Given the description of an element on the screen output the (x, y) to click on. 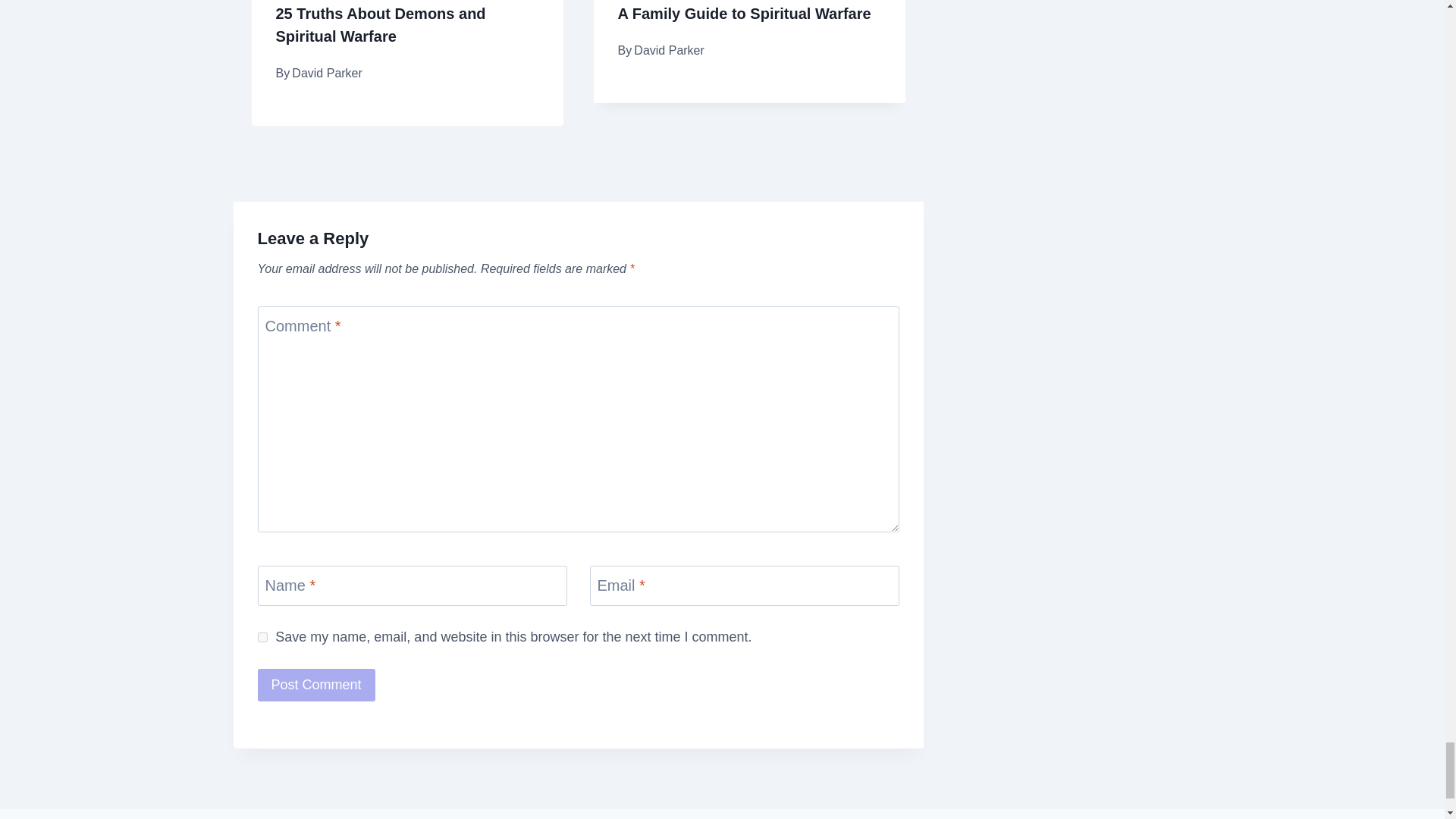
Post Comment (316, 685)
yes (262, 637)
